Given the description of an element on the screen output the (x, y) to click on. 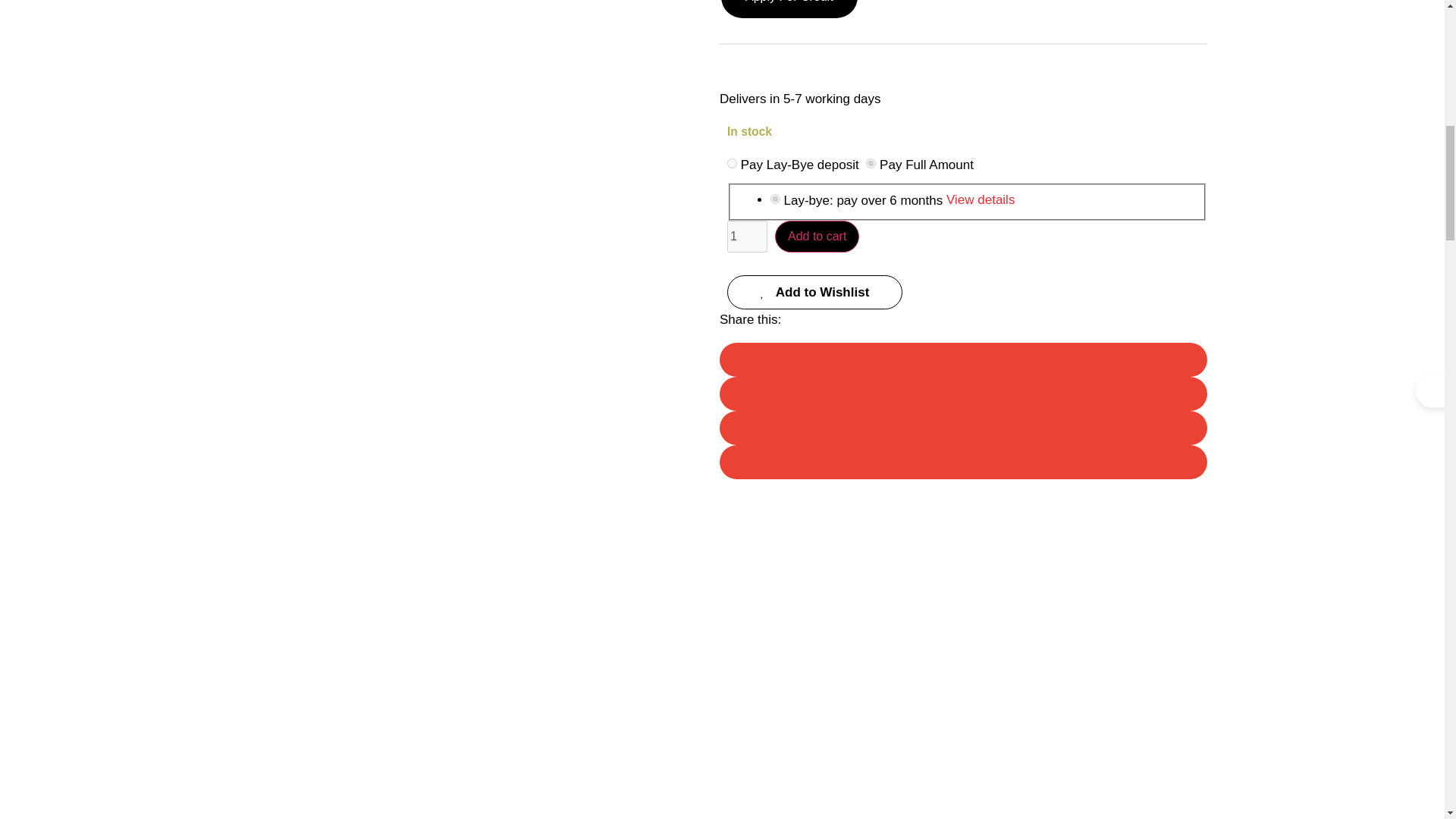
full (871, 163)
deposit (731, 163)
Apply For Credit (788, 9)
286 (775, 198)
1 (746, 236)
